Given the description of an element on the screen output the (x, y) to click on. 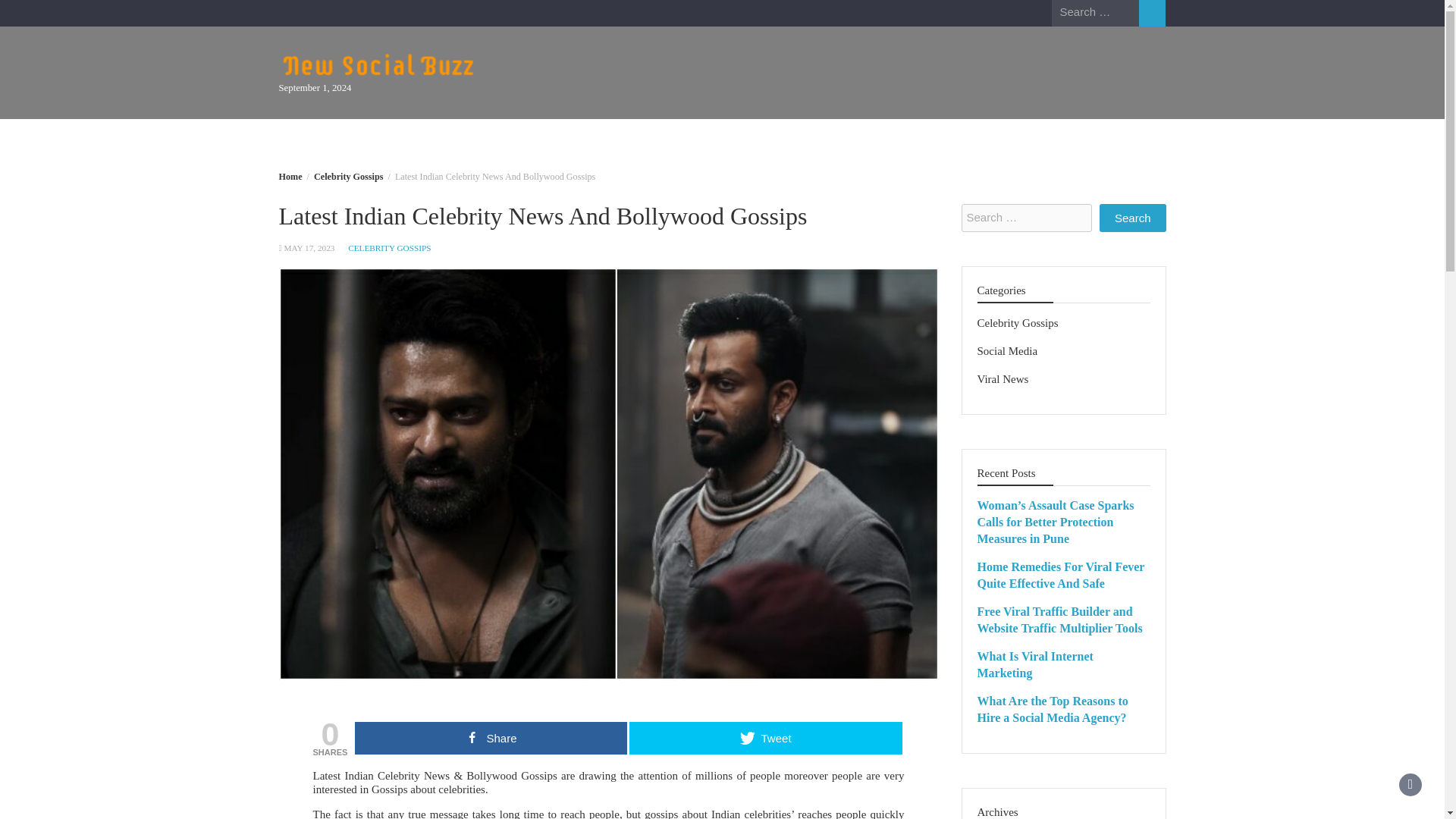
Celebrity Gossips (348, 176)
Home Remedies For Viral Fever Quite Effective And Safe (1060, 574)
MAY 17, 2023 (308, 247)
Contact Us (468, 138)
Search for: (1026, 217)
Sitemap (549, 138)
What Are the Top Reasons to Hire a Social Media Agency? (1051, 708)
About Us (384, 138)
What Is Viral Internet Marketing (1034, 664)
